Given the description of an element on the screen output the (x, y) to click on. 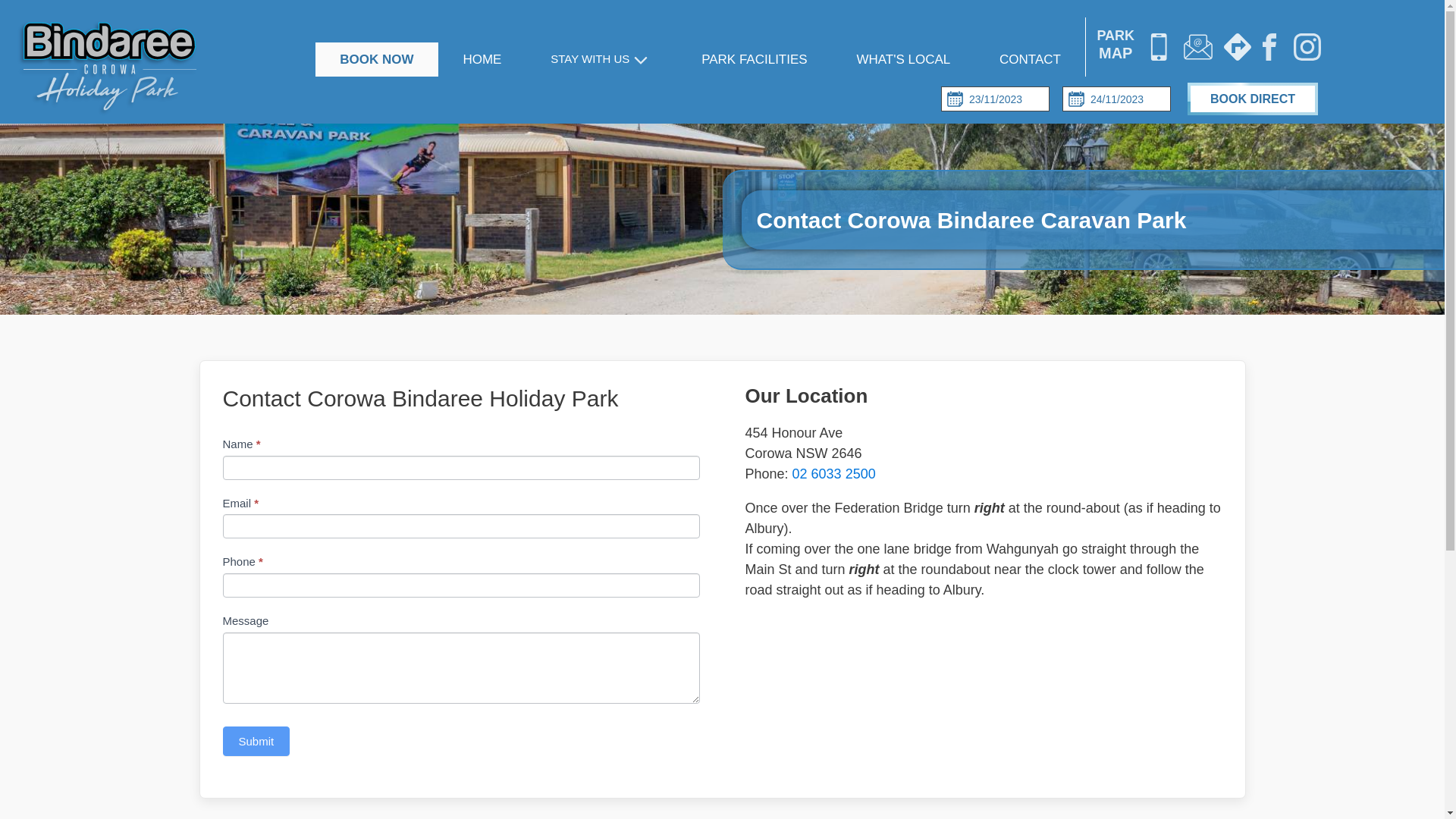
PARK FACILITIES Element type: text (754, 59)
02 6033 2500 Element type: text (833, 473)
PARK
MAP Element type: text (1112, 47)
WHAT'S LOCAL Element type: text (903, 59)
Submit Element type: text (256, 741)
HOME Element type: text (482, 59)
BOOK NOW Element type: text (376, 59)
BOOK DIRECT Element type: text (1252, 98)
CONTACT Element type: text (1030, 59)
